Given the description of an element on the screen output the (x, y) to click on. 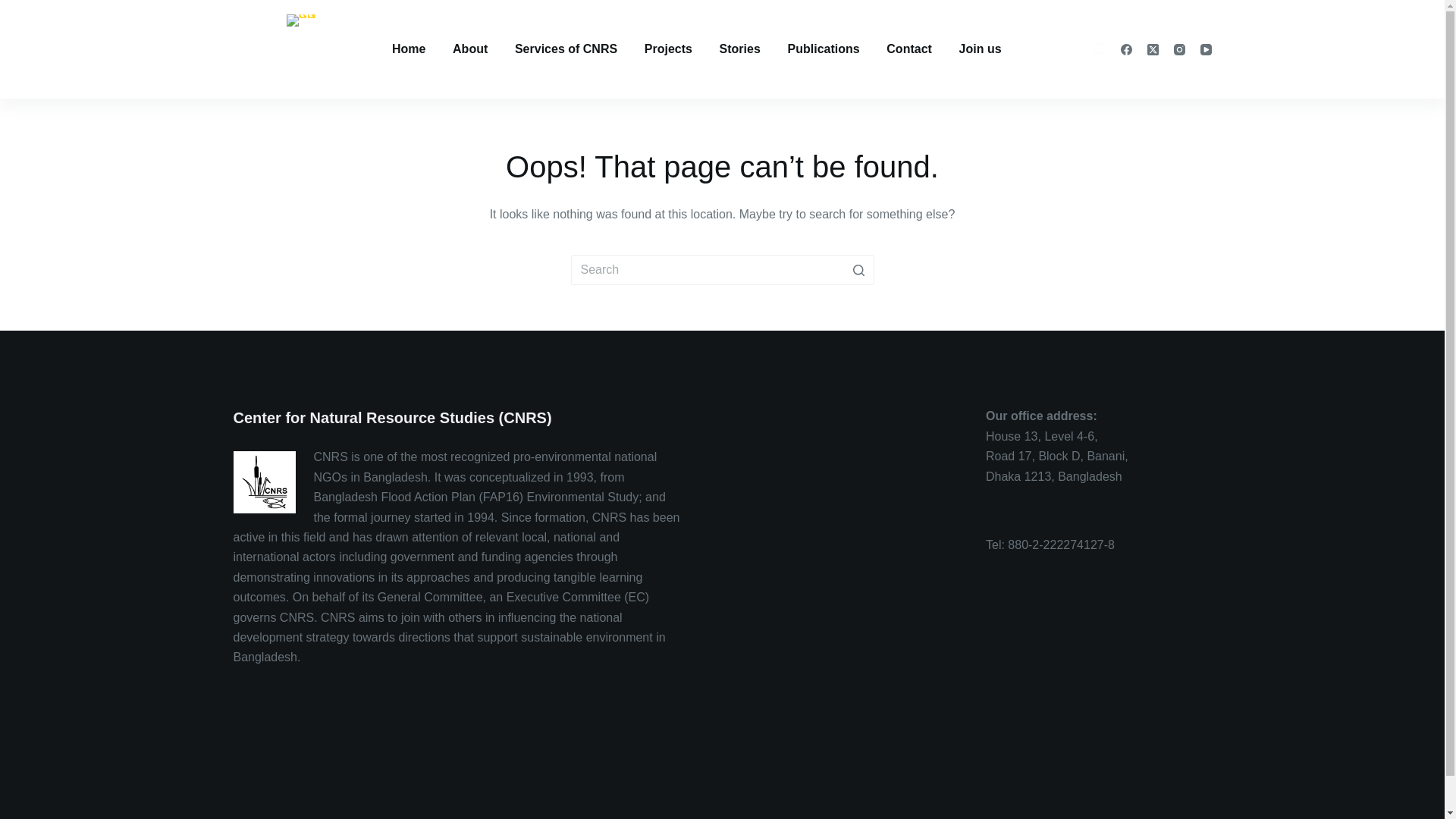
About Element type: text (470, 49)
Search for... Element type: hover (721, 269)
Skip to content Element type: text (15, 7)
Home Element type: text (408, 49)
Join us Element type: text (979, 49)
Publications Element type: text (823, 49)
Contact Element type: text (909, 49)
Services of CNRS Element type: text (565, 49)
Stories Element type: text (739, 49)
Projects Element type: text (667, 49)
